Given the description of an element on the screen output the (x, y) to click on. 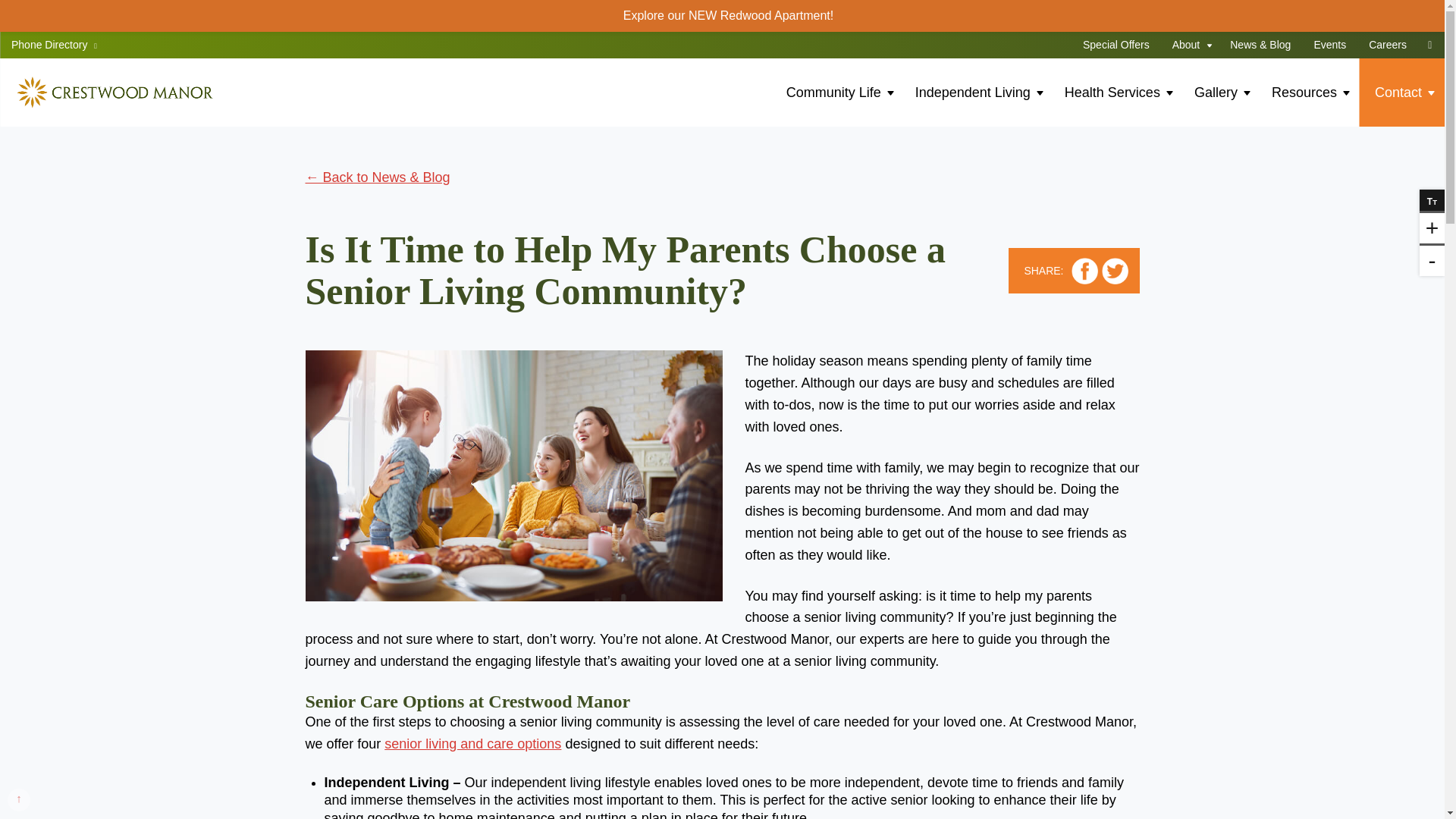
Share on Facebook (1083, 270)
Gallery (1221, 92)
Community Life (839, 92)
Share on Twitter (1113, 270)
Independent Living (978, 92)
Crestwood Manor (113, 92)
Resources (1309, 92)
Health Services (1117, 92)
